Given the description of an element on the screen output the (x, y) to click on. 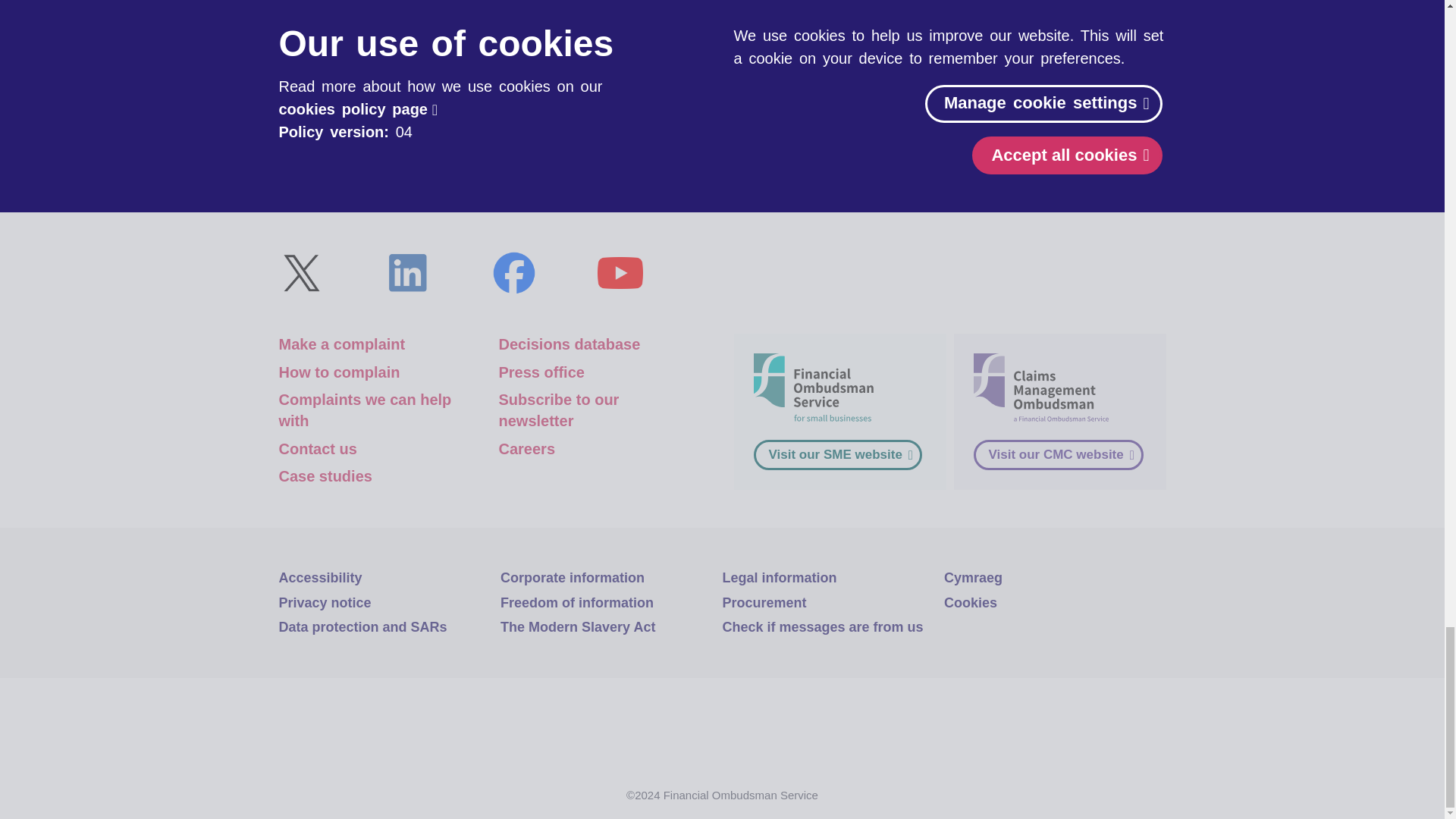
1 (461, 107)
0 (549, 107)
